Given the description of an element on the screen output the (x, y) to click on. 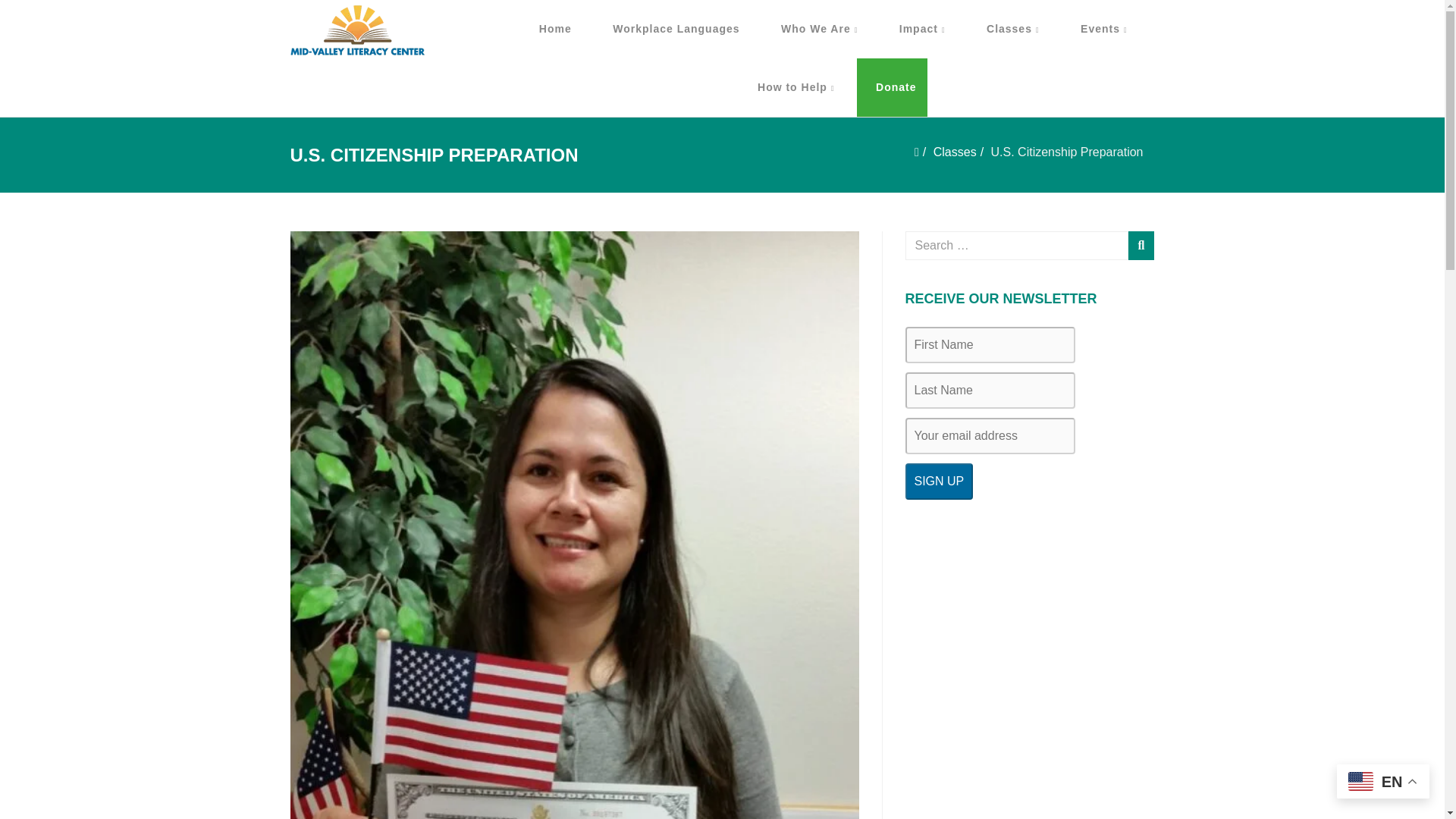
Who We Are (818, 29)
Events (1104, 29)
Sign up (939, 481)
Classes (1013, 29)
Donate (892, 87)
How to Help (795, 87)
Impact (921, 29)
Home (555, 29)
Workplace Languages (676, 29)
